Given the description of an element on the screen output the (x, y) to click on. 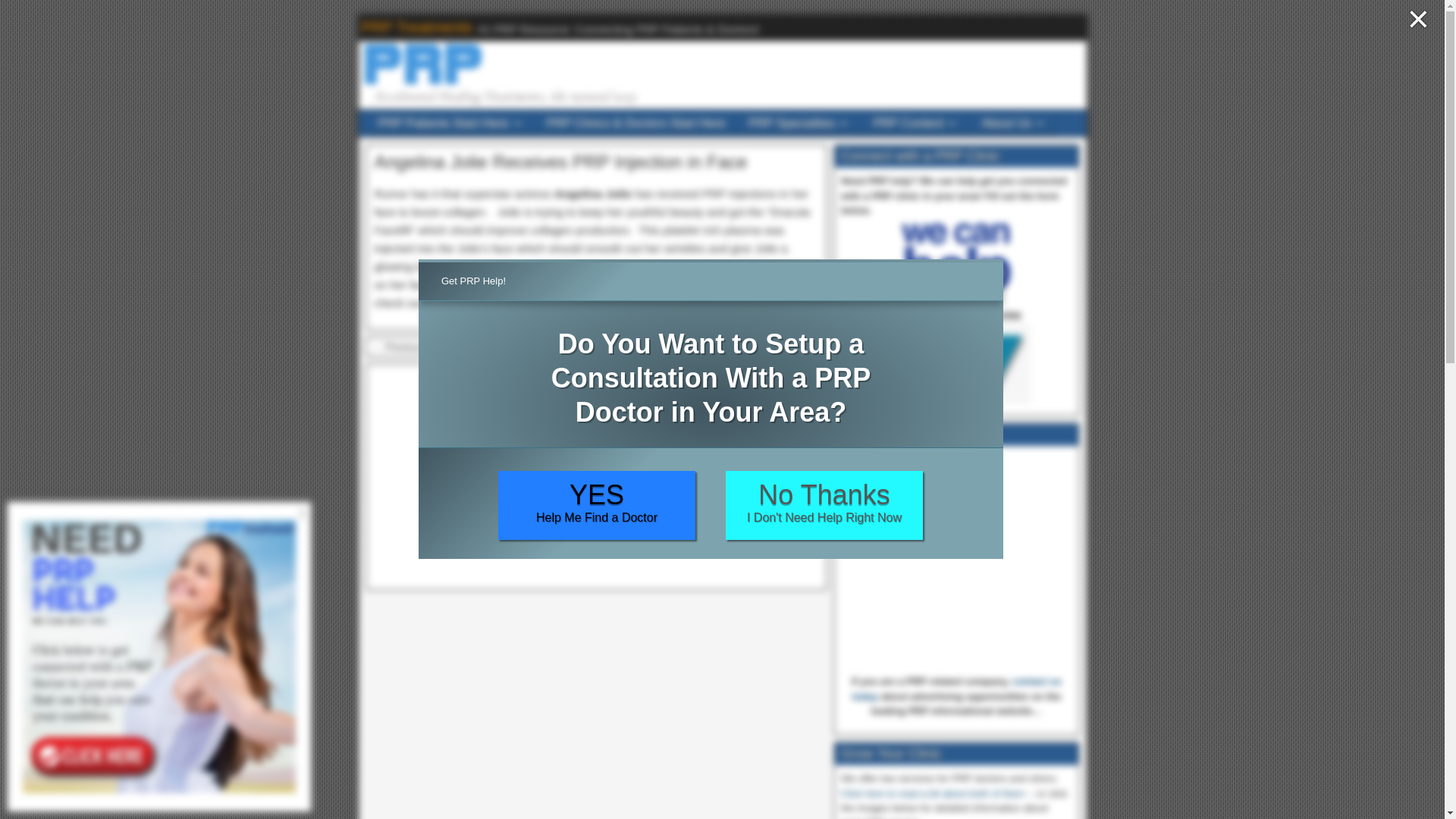
PRP Content (915, 121)
PRP Treatments (416, 26)
Advertisement (596, 477)
Advertisement (956, 565)
PRP Patients Start Here (450, 121)
Facial Rejuvination (585, 284)
PRP Specialties (799, 121)
About Us (1014, 121)
PRP Treatment for Wrinkles (724, 284)
